Given the description of an element on the screen output the (x, y) to click on. 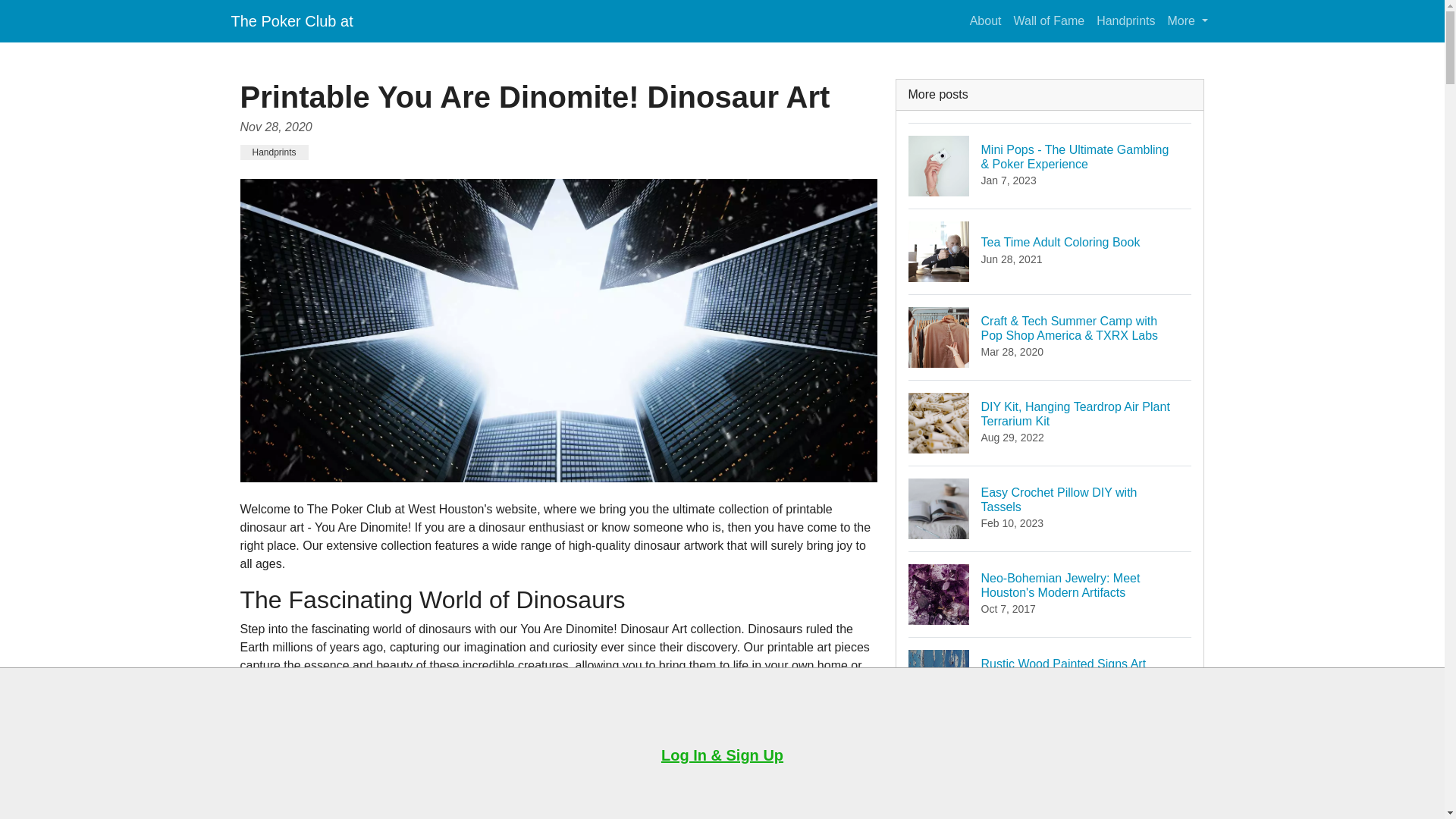
About (985, 20)
Handprints (1050, 251)
More (1050, 765)
